Given the description of an element on the screen output the (x, y) to click on. 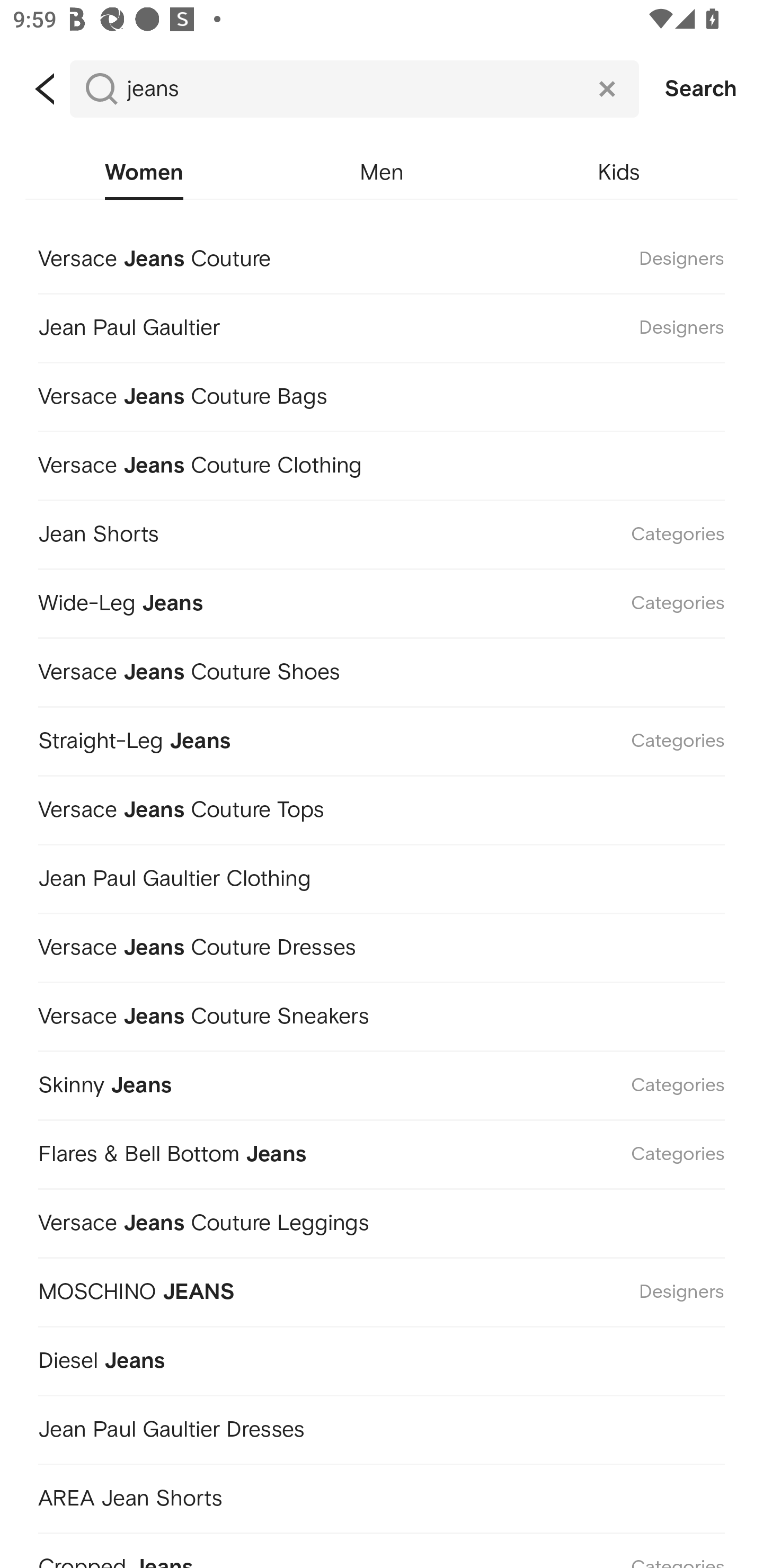
jeans (354, 89)
Search (701, 89)
Men (381, 172)
Kids (618, 172)
Versace Jeans Couture Designers (381, 257)
Jean Paul Gaultier Designers (381, 324)
Versace Jeans Couture Bags (381, 393)
Versace Jeans Couture Clothing (381, 462)
Jean Shorts Categories (381, 531)
Wide-Leg Jeans Categories (381, 600)
Versace Jeans Couture Shoes (381, 669)
Straight-Leg Jeans Categories (381, 738)
Versace Jeans Couture Tops (381, 806)
Jean Paul Gaultier Clothing (381, 874)
Versace Jeans Couture Dresses (381, 943)
Versace Jeans Couture Sneakers (381, 1012)
Skinny Jeans Categories (381, 1081)
Flares & Bell Bottom Jeans Categories (381, 1150)
Versace Jeans Couture Leggings (381, 1219)
MOSCHINO JEANS Designers (381, 1288)
Diesel Jeans (381, 1357)
Jean Paul Gaultier Dresses (381, 1426)
AREA Jean Shorts (381, 1495)
Cropped Jeans Categories (381, 1549)
